Given the description of an element on the screen output the (x, y) to click on. 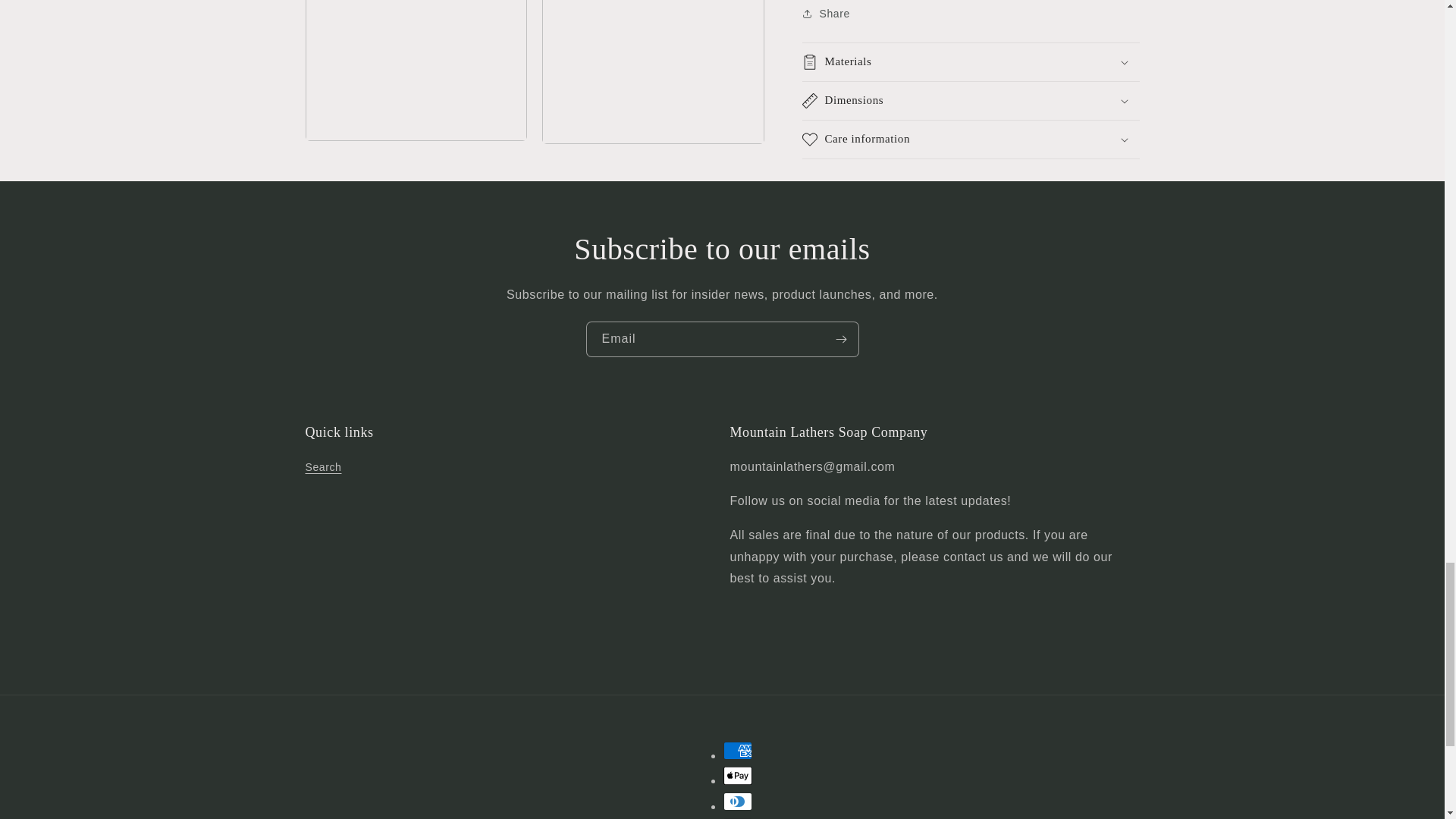
Apple Pay (737, 775)
Diners Club (737, 801)
American Express (737, 751)
